Given the description of an element on the screen output the (x, y) to click on. 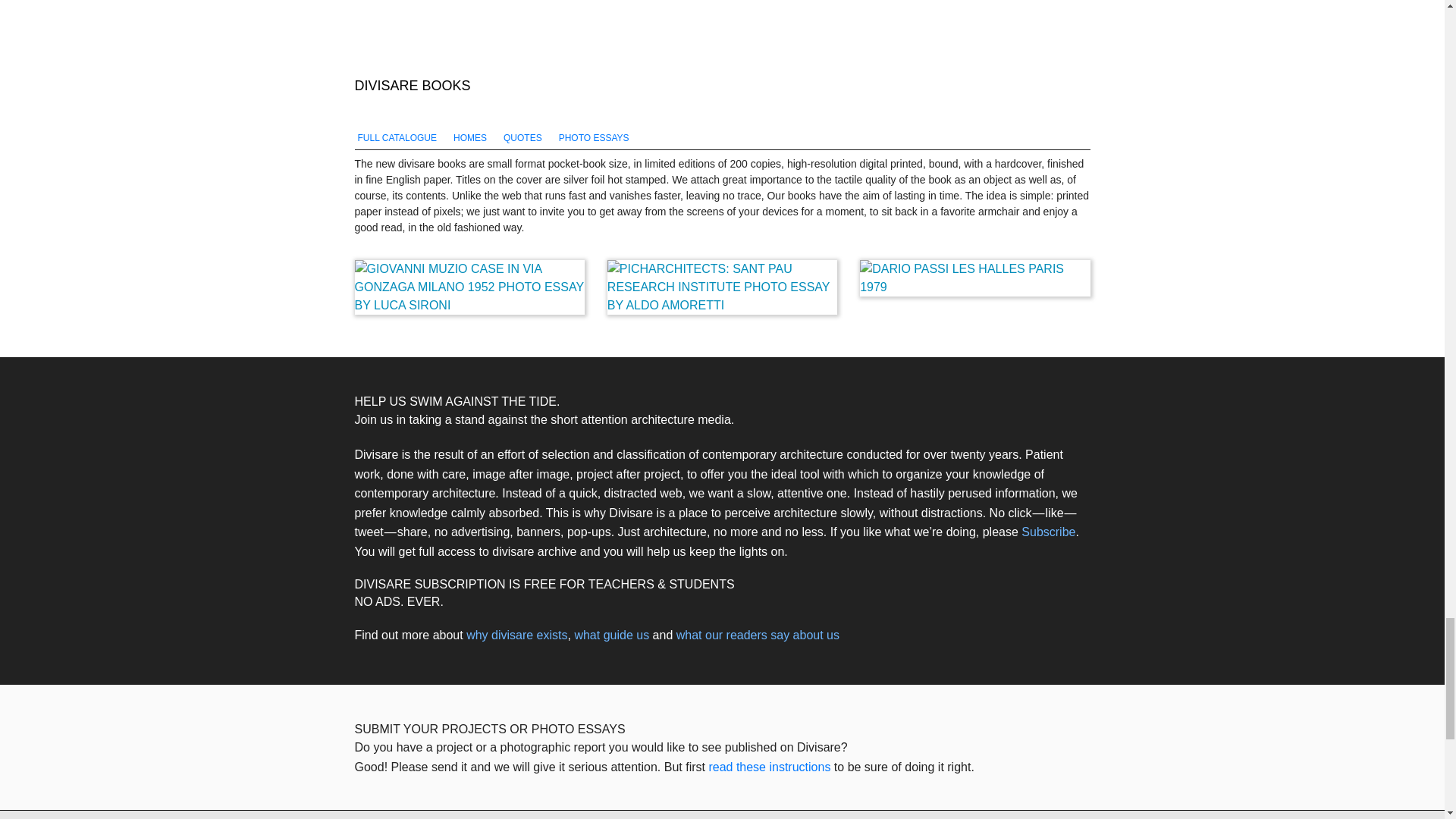
DARIO PASSI LES HALLES PARIS 1979 (974, 278)
